Given the description of an element on the screen output the (x, y) to click on. 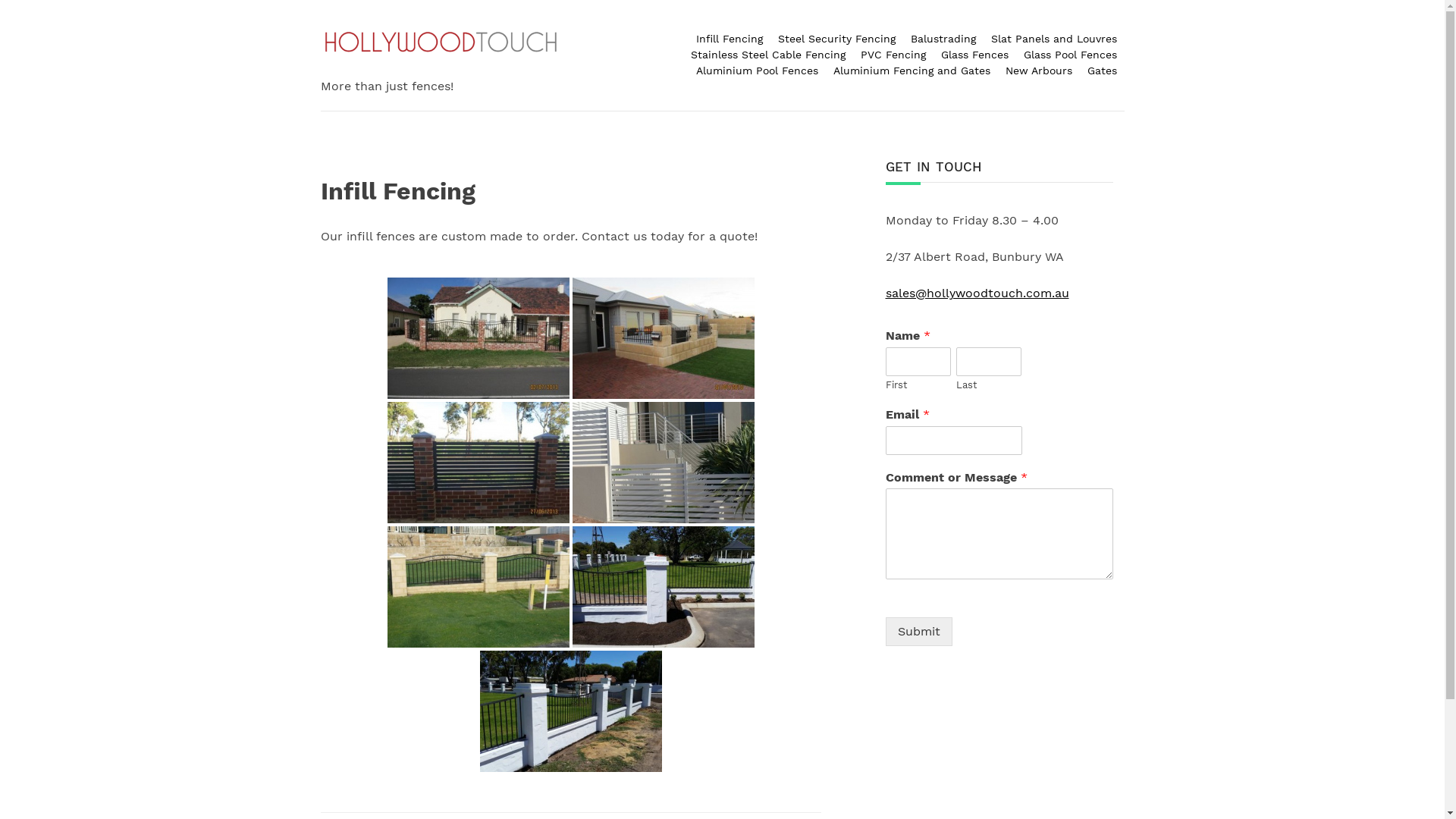
New Arbours Element type: text (1038, 70)
infill-fencing-curved-4-1-orig Element type: hover (662, 586)
1685880-1-orig Element type: hover (477, 337)
Aluminium Pool Fences Element type: text (756, 70)
PVC Fencing Element type: text (892, 54)
Steel Security Fencing Element type: text (836, 39)
infill-fencing-curved-5-1-orig Element type: hover (570, 710)
Glass Pool Fences Element type: text (1070, 54)
8021678-1-orig_1 Element type: hover (662, 462)
Aluminium Fencing and Gates Element type: text (911, 70)
Slat Panels and Louvres Element type: text (1052, 39)
Gates Element type: text (1101, 70)
Glass Fences Element type: text (973, 54)
Balustrading Element type: text (942, 39)
sales@hollywoodtouch.com.au Element type: text (977, 292)
Infill Fencing Element type: text (729, 39)
2854695-1-orig Element type: hover (662, 337)
5296224-1-orig Element type: hover (477, 462)
9423784-1_1 Element type: hover (477, 586)
Submit Element type: text (918, 631)
Stainless Steel Cable Fencing Element type: text (767, 54)
